Given the description of an element on the screen output the (x, y) to click on. 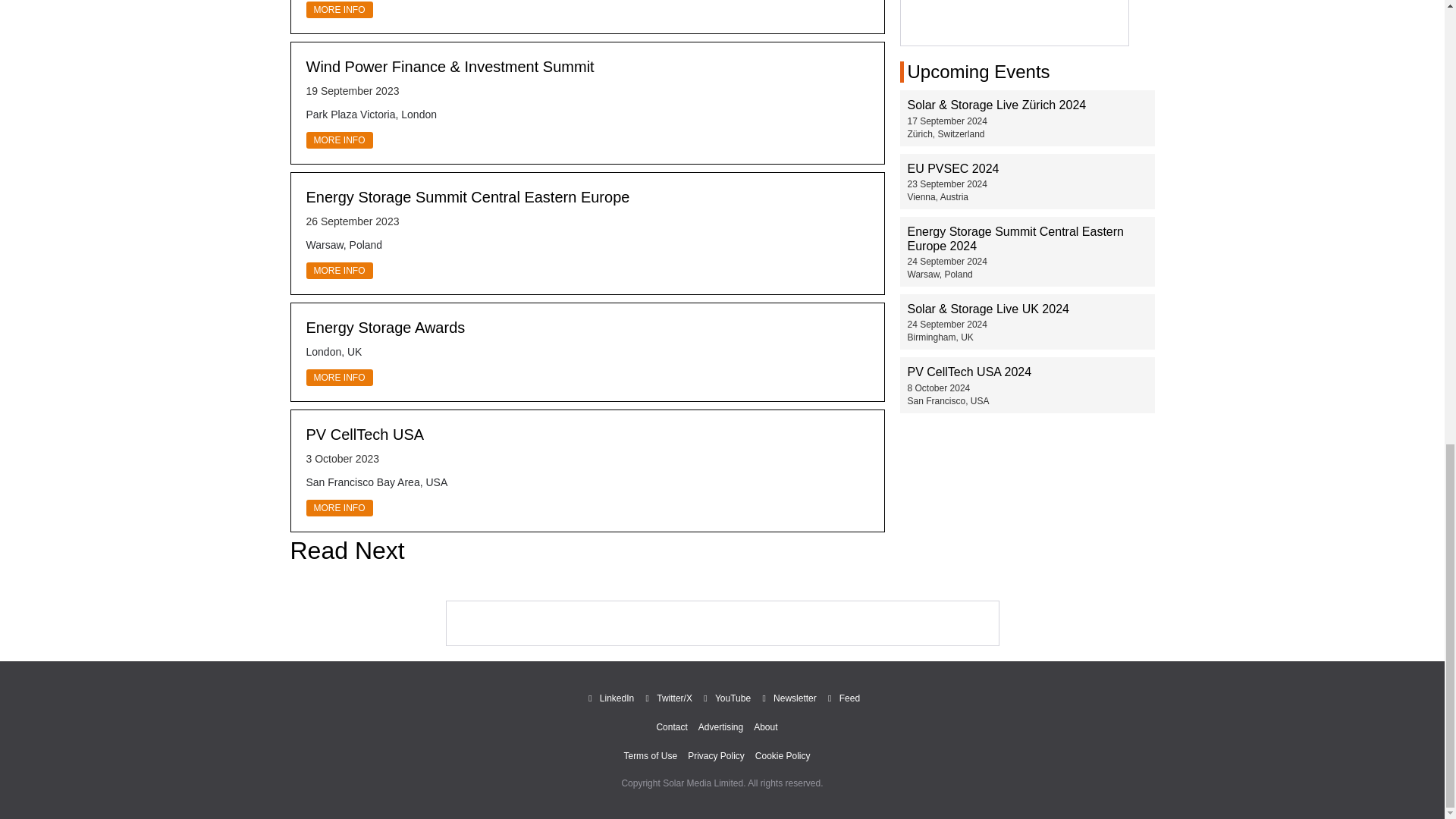
MORE INFO (338, 139)
Energy Storage Awards (385, 327)
Energy Storage Summit Central Eastern Europe (467, 197)
MORE INFO (338, 270)
MORE INFO (338, 9)
MORE INFO (338, 377)
